Given the description of an element on the screen output the (x, y) to click on. 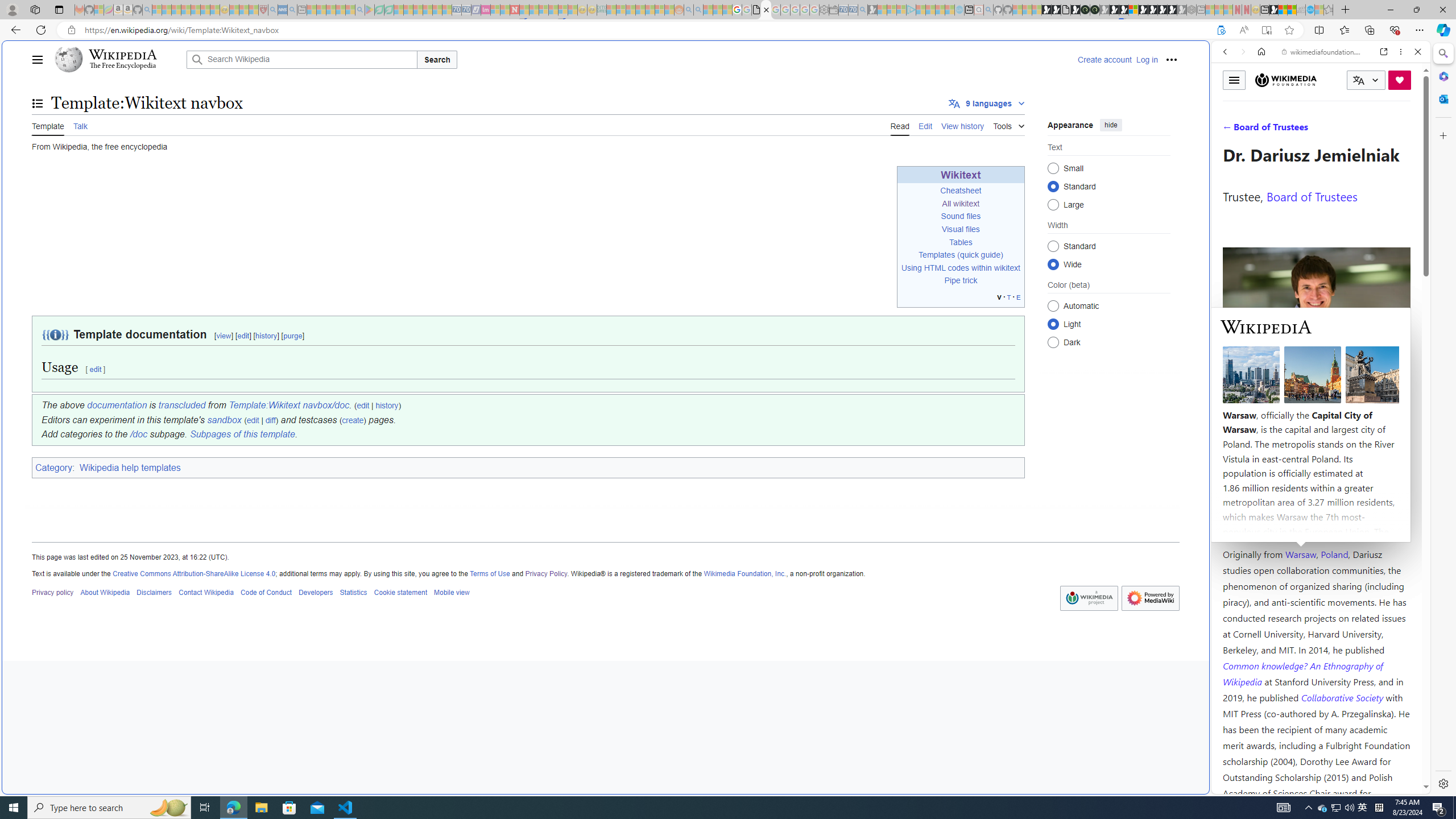
Templates (quick guide) (960, 254)
Wiktionary (1315, 380)
Light (1053, 323)
